Given the description of an element on the screen output the (x, y) to click on. 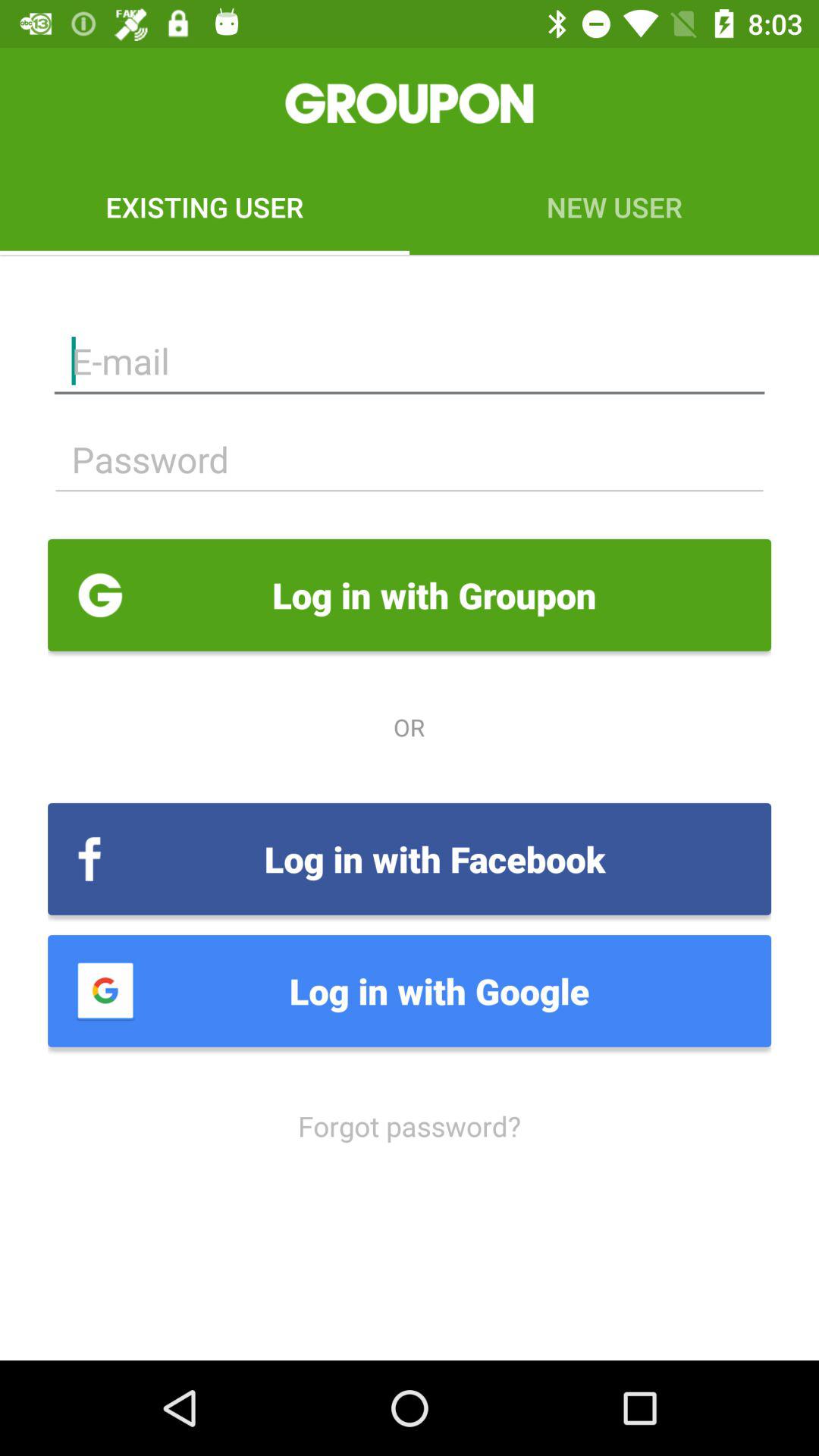
select the new user (614, 206)
